Given the description of an element on the screen output the (x, y) to click on. 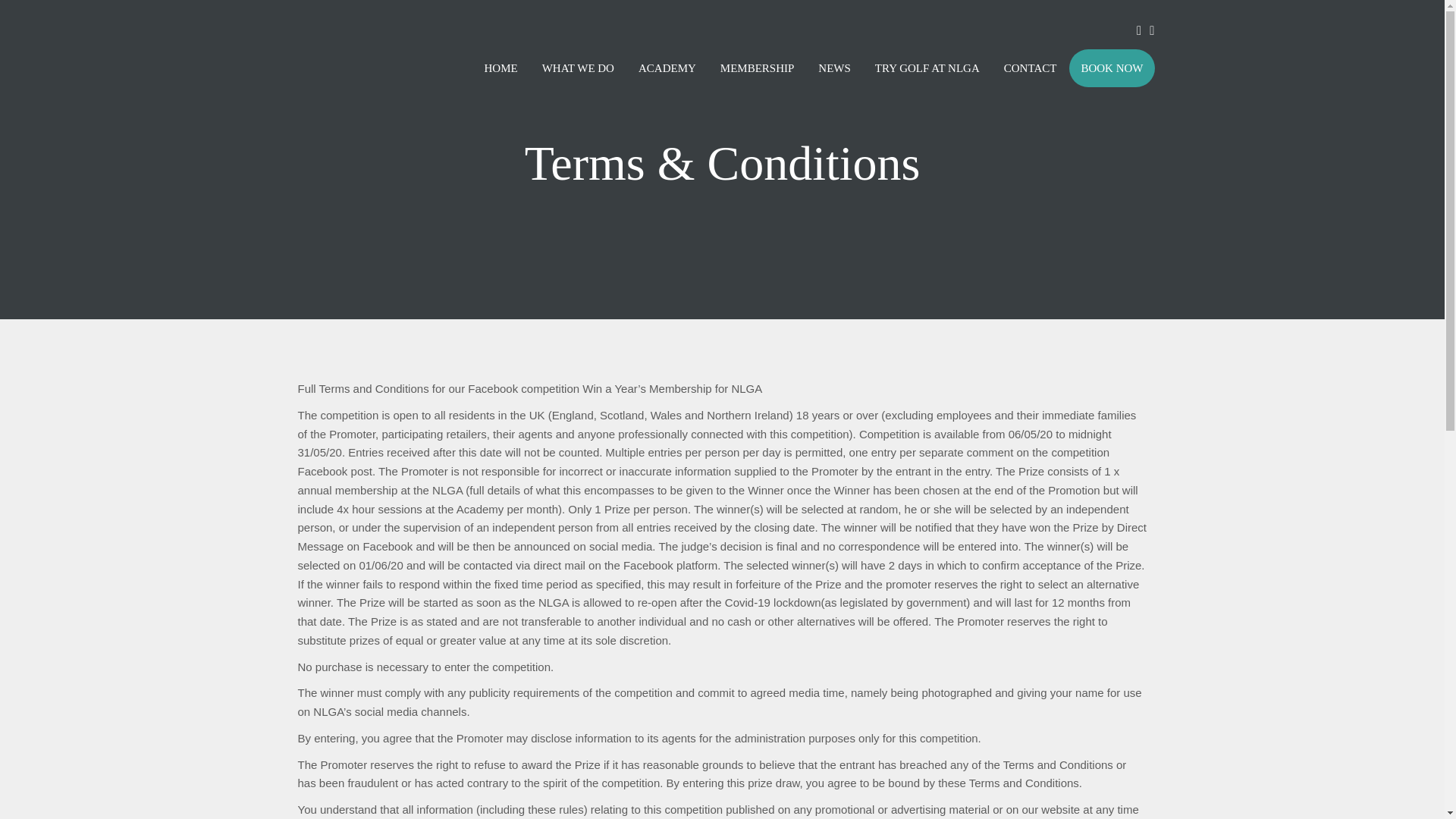
ACADEMY (667, 67)
MEMBERSHIP (757, 67)
TRY GOLF AT NLGA (927, 67)
BOOK NOW (1111, 67)
CONTACT (1030, 67)
WHAT WE DO (577, 67)
